Given the description of an element on the screen output the (x, y) to click on. 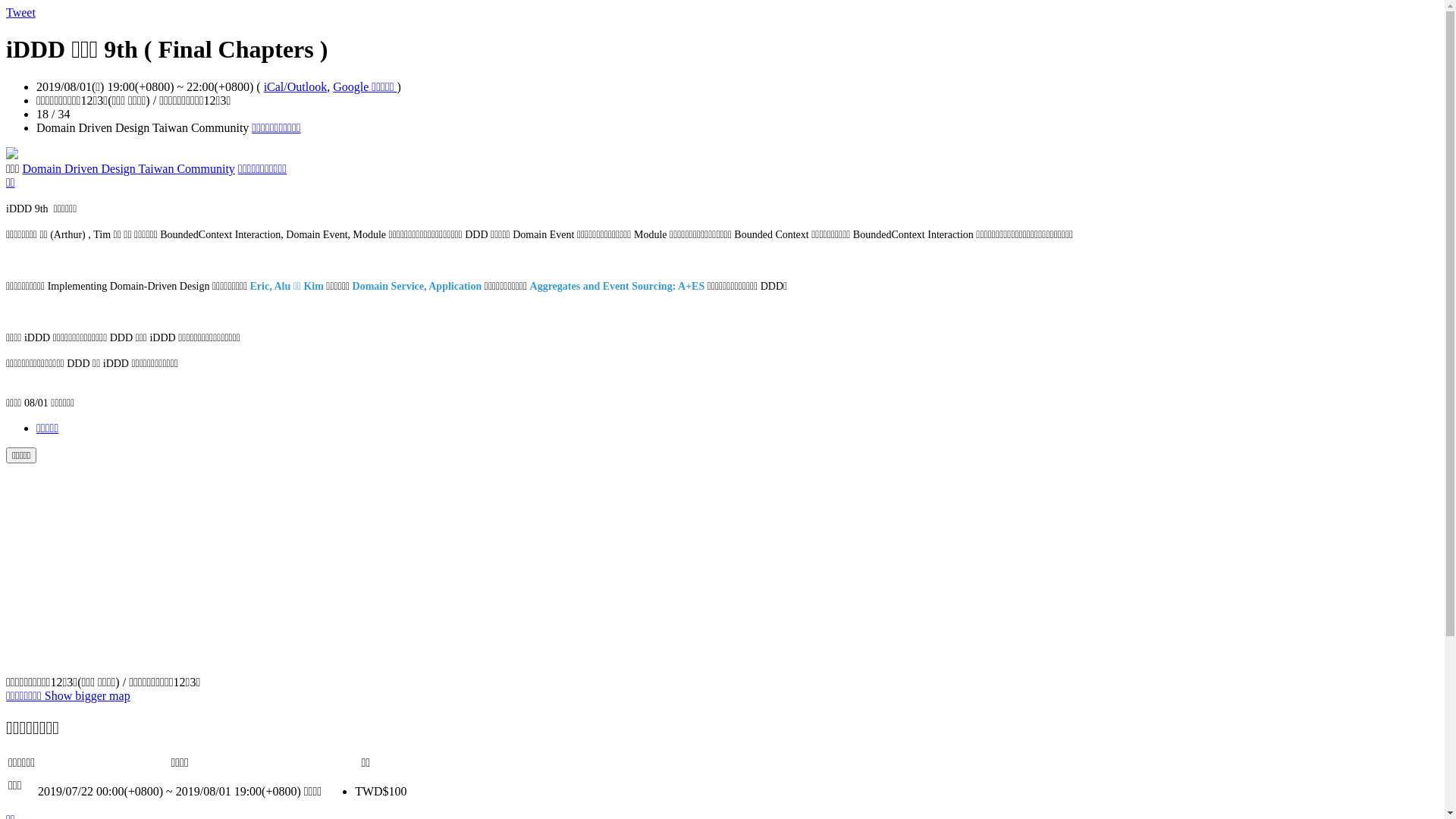
Show bigger map Element type: text (87, 695)
Domain Driven Design Taiwan Community Element type: text (128, 168)
iCal/Outlook Element type: text (295, 86)
Tweet Element type: text (20, 12)
